Given the description of an element on the screen output the (x, y) to click on. 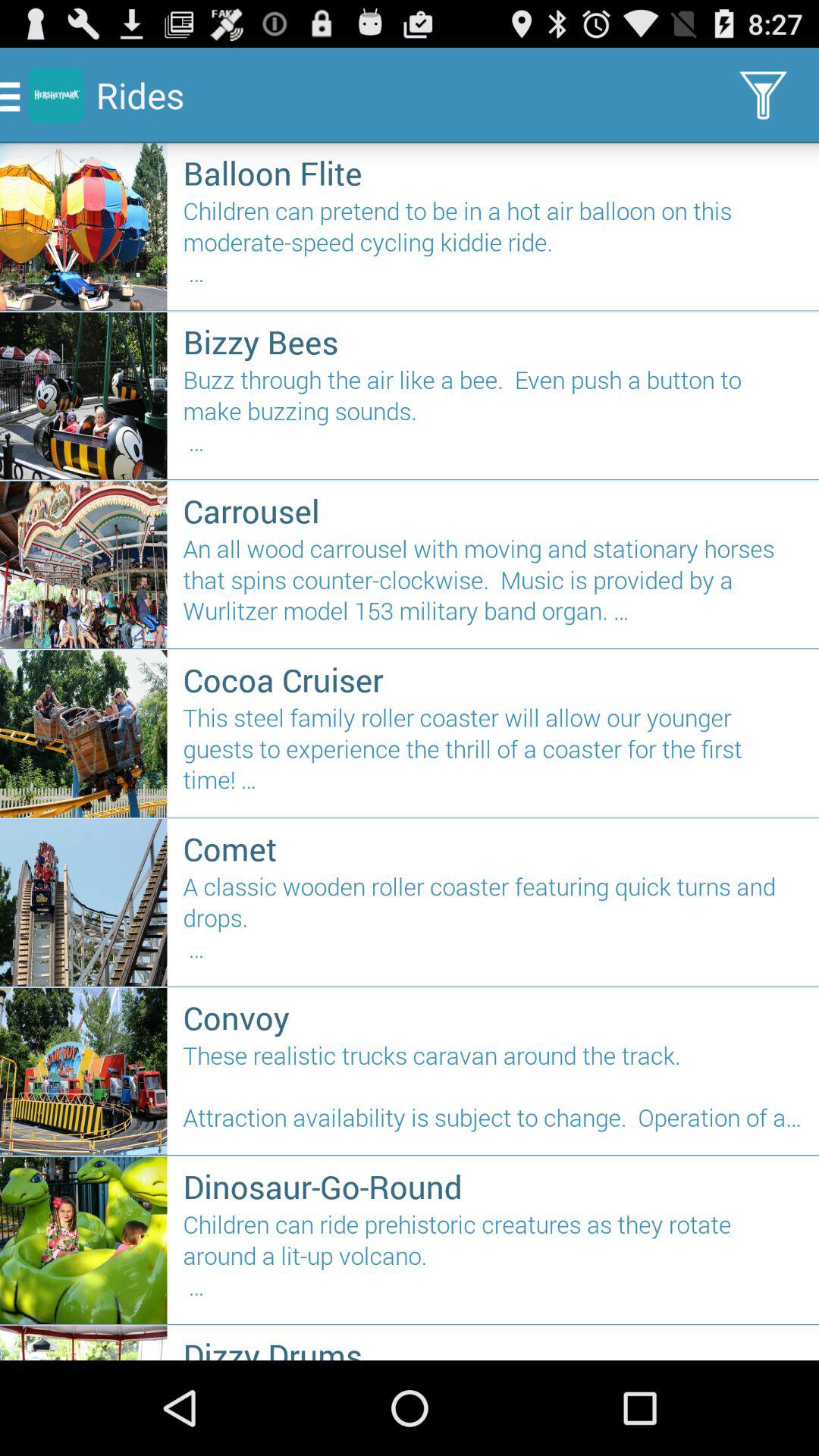
swipe to the these realistic trucks (493, 1093)
